Given the description of an element on the screen output the (x, y) to click on. 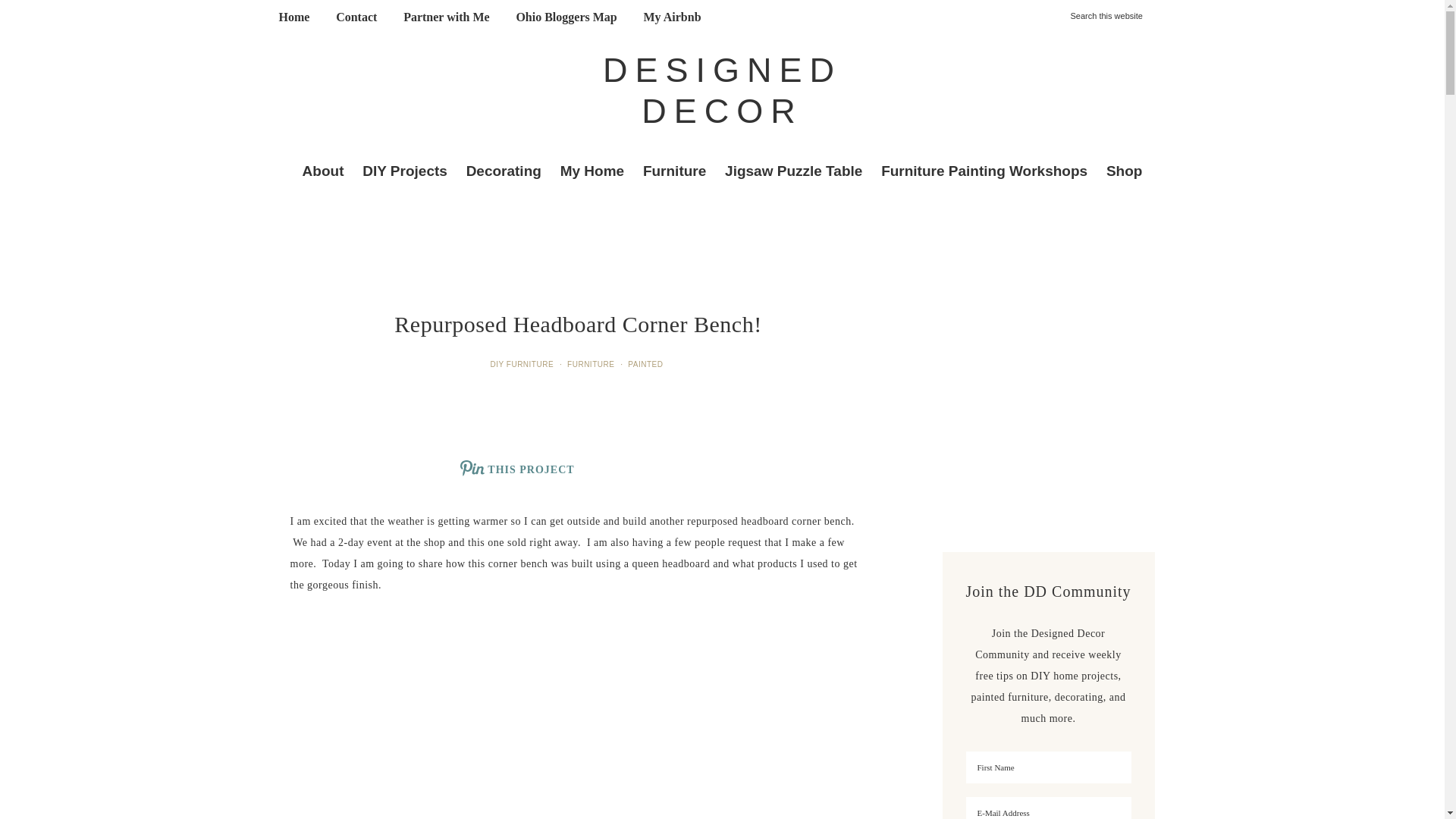
Ohio Bloggers Map (565, 17)
About (323, 170)
Furniture Painting Workshops (983, 170)
DESIGNED DECOR (721, 90)
Contact (356, 17)
THIS PROJECT (516, 467)
FURNITURE (592, 364)
Home (293, 17)
PAINTED (646, 364)
Shop (1124, 170)
